Given the description of an element on the screen output the (x, y) to click on. 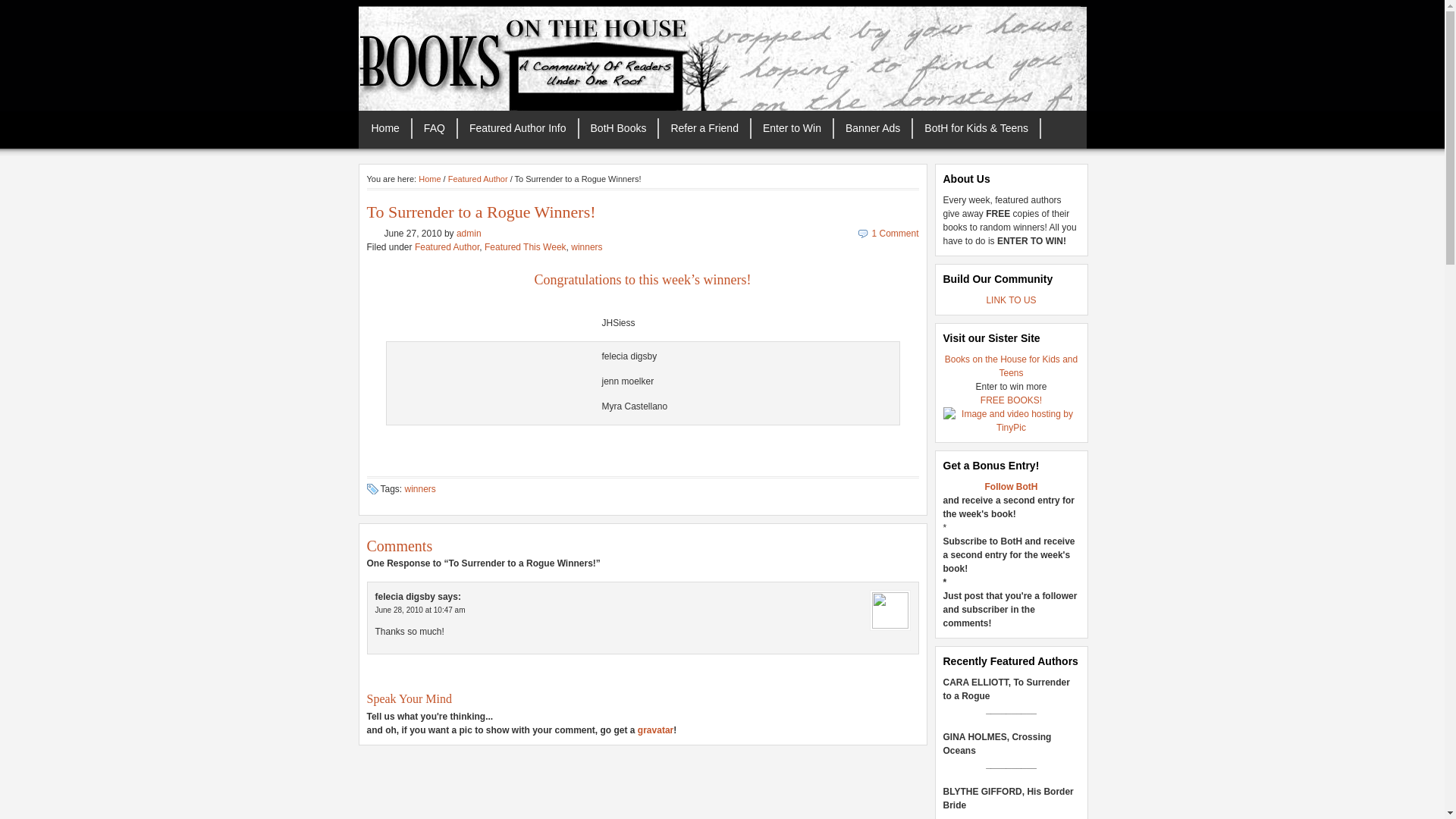
Books on the House for Kids and Teens (1010, 365)
Featured Author (446, 246)
Featured Author Info (518, 127)
FREE BOOKS! (1010, 399)
Enter to Win (792, 127)
Featured Author (478, 178)
Refer a Friend (705, 127)
Follow BotH (1010, 486)
LINK TO US (1010, 299)
admin (469, 233)
Home (430, 178)
Banner Ads (873, 127)
gravatar (654, 729)
FAQ (435, 127)
Enter to Win (792, 127)
